Given the description of an element on the screen output the (x, y) to click on. 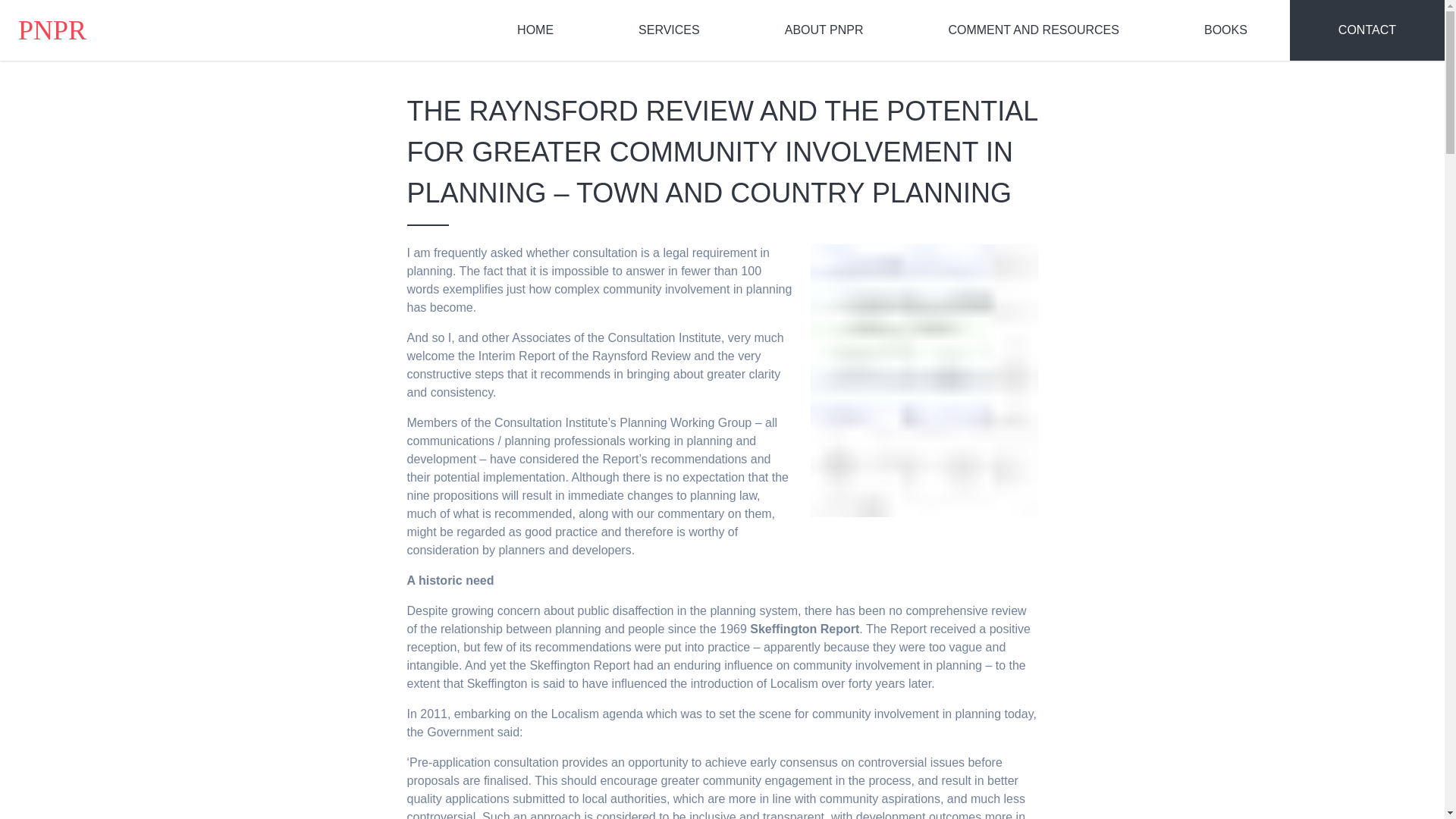
COMMENT AND RESOURCES (1033, 30)
SERVICES (668, 30)
ABOUT PNPR (824, 30)
BOOKS (1225, 30)
PNPR (51, 29)
HOME (535, 30)
